Given the description of an element on the screen output the (x, y) to click on. 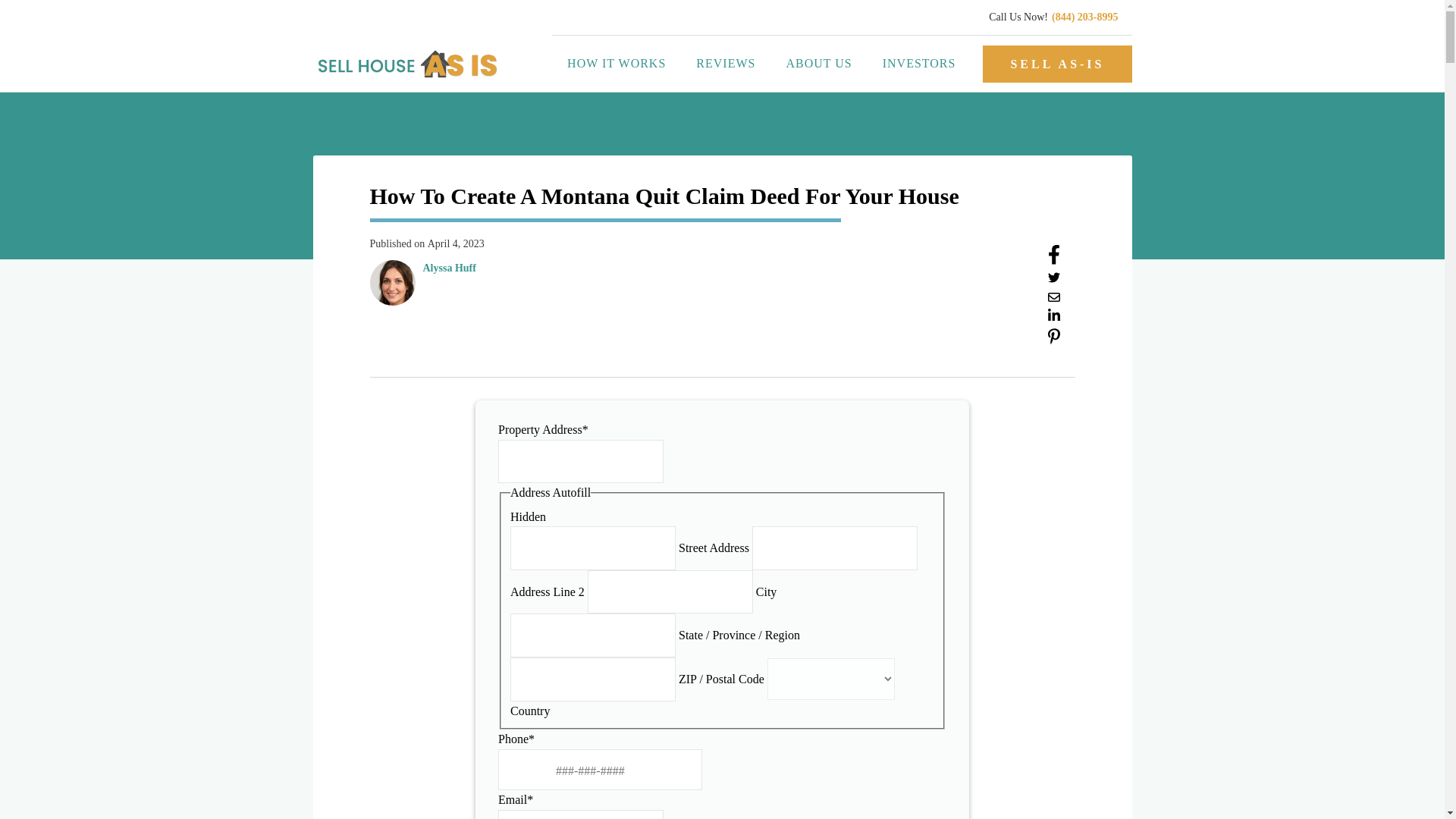
Alyssa Huff (449, 268)
ABOUT US (818, 63)
Share on LinkedIn (1053, 318)
INVESTORS (919, 63)
Share on Facebook (1053, 259)
SELL AS-IS (1056, 63)
Share via Email (1053, 298)
HOW IT WORKS (616, 63)
REVIEWS (725, 63)
Pin it (1053, 340)
